Given the description of an element on the screen output the (x, y) to click on. 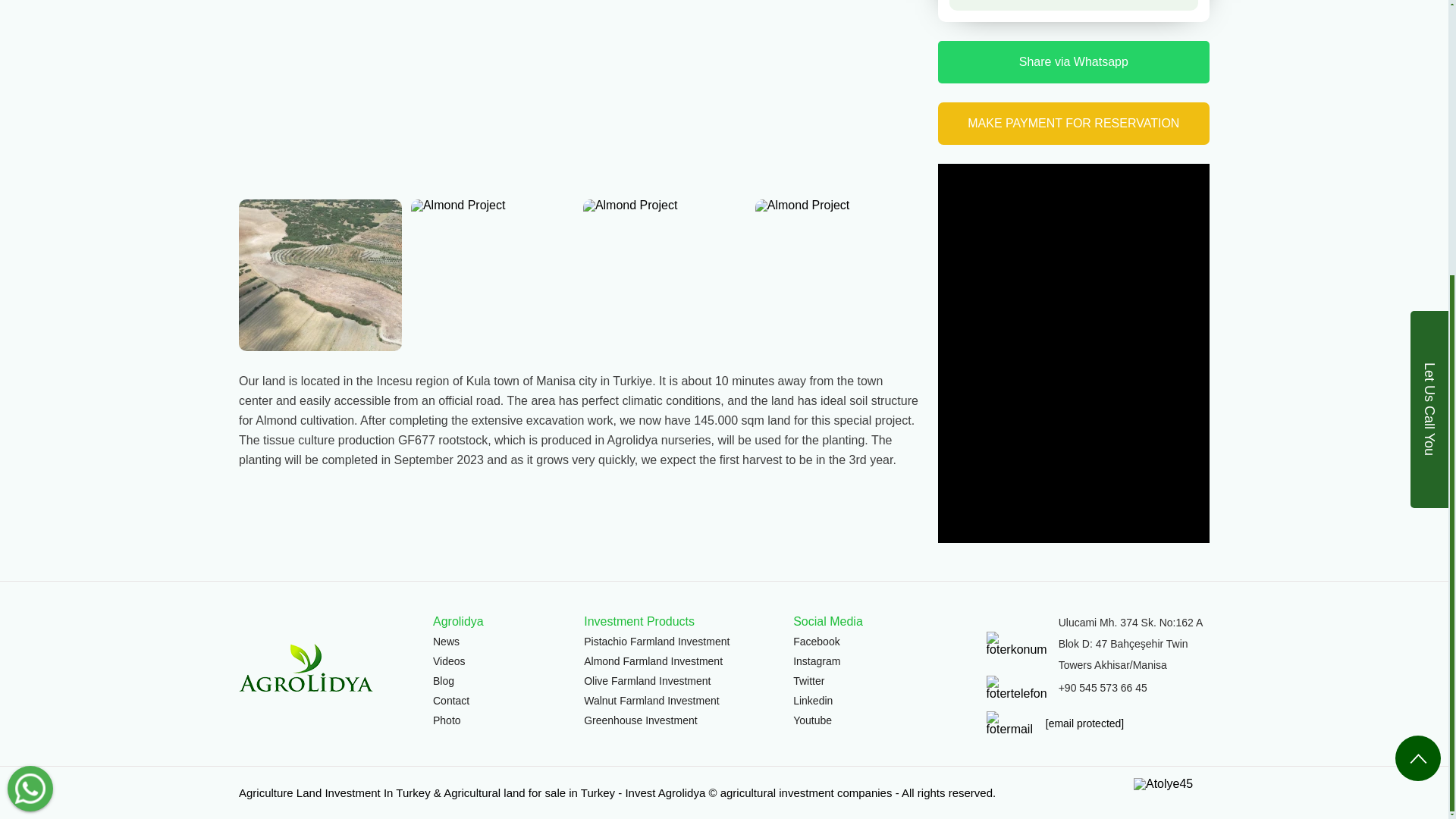
almond-project-kula-3-1.png (491, 275)
almond-project-kula-4-1.png (664, 275)
MAKE PAYMENT FOR RESERVATION (1073, 123)
almond-project-kula-2-1.png (319, 275)
almond-project-kula-5-1.png (836, 275)
Videos (448, 660)
Blog (443, 680)
News (446, 641)
Share via Whatsapp (1073, 61)
Contact (450, 700)
MAKE PAYMENT FOR RESERVATION (1073, 123)
